Given the description of an element on the screen output the (x, y) to click on. 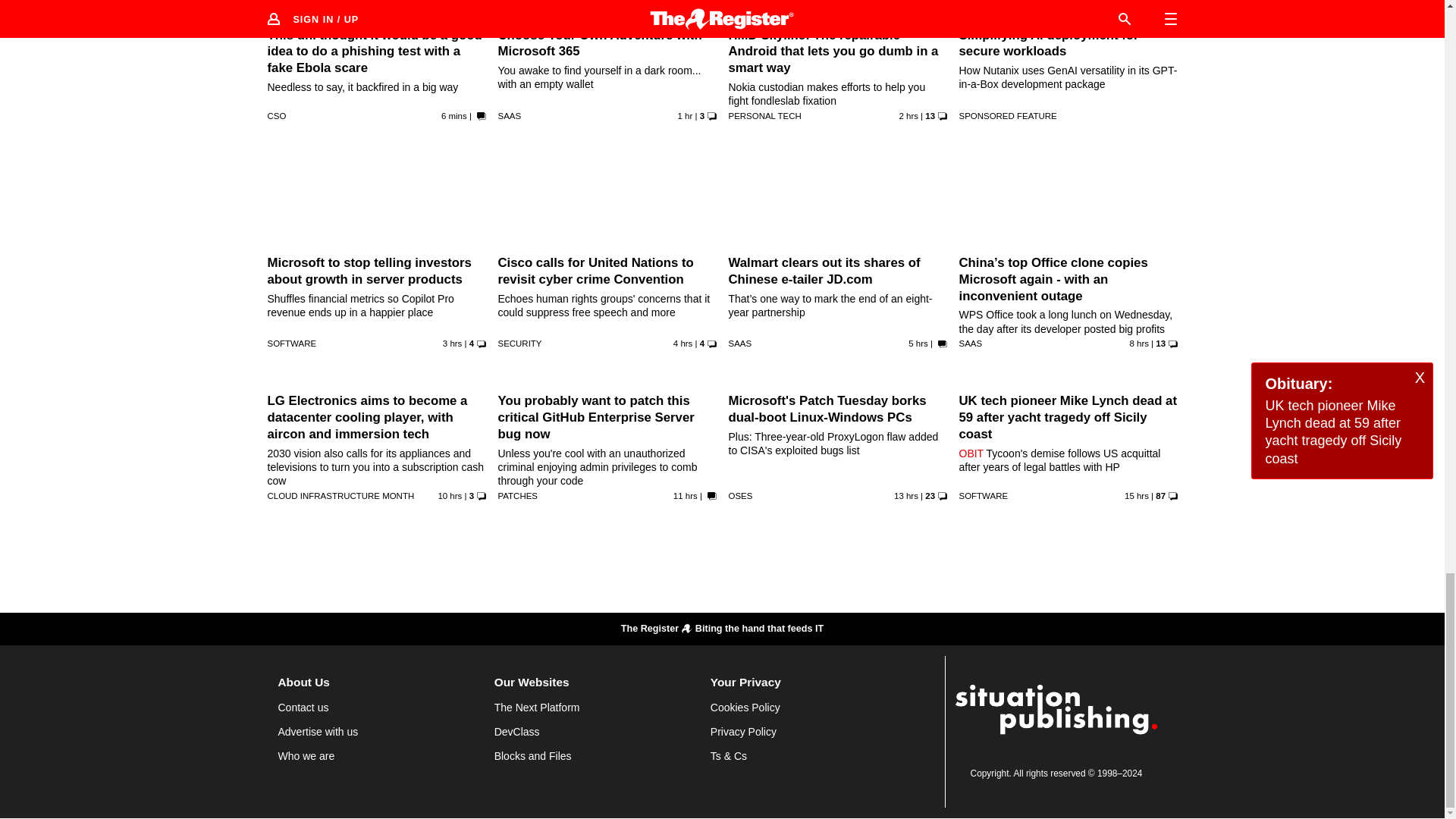
21 Aug 2024 19:15 (1136, 495)
22 Aug 2024 6:32 (682, 343)
22 Aug 2024 7:29 (452, 343)
21 Aug 2024 21:40 (905, 495)
22 Aug 2024 9:38 (685, 115)
22 Aug 2024 0:59 (449, 495)
22 Aug 2024 5:26 (918, 343)
22 Aug 2024 10:32 (454, 115)
22 Aug 2024 8:30 (908, 115)
22 Aug 2024 2:30 (1138, 343)
